Given the description of an element on the screen output the (x, y) to click on. 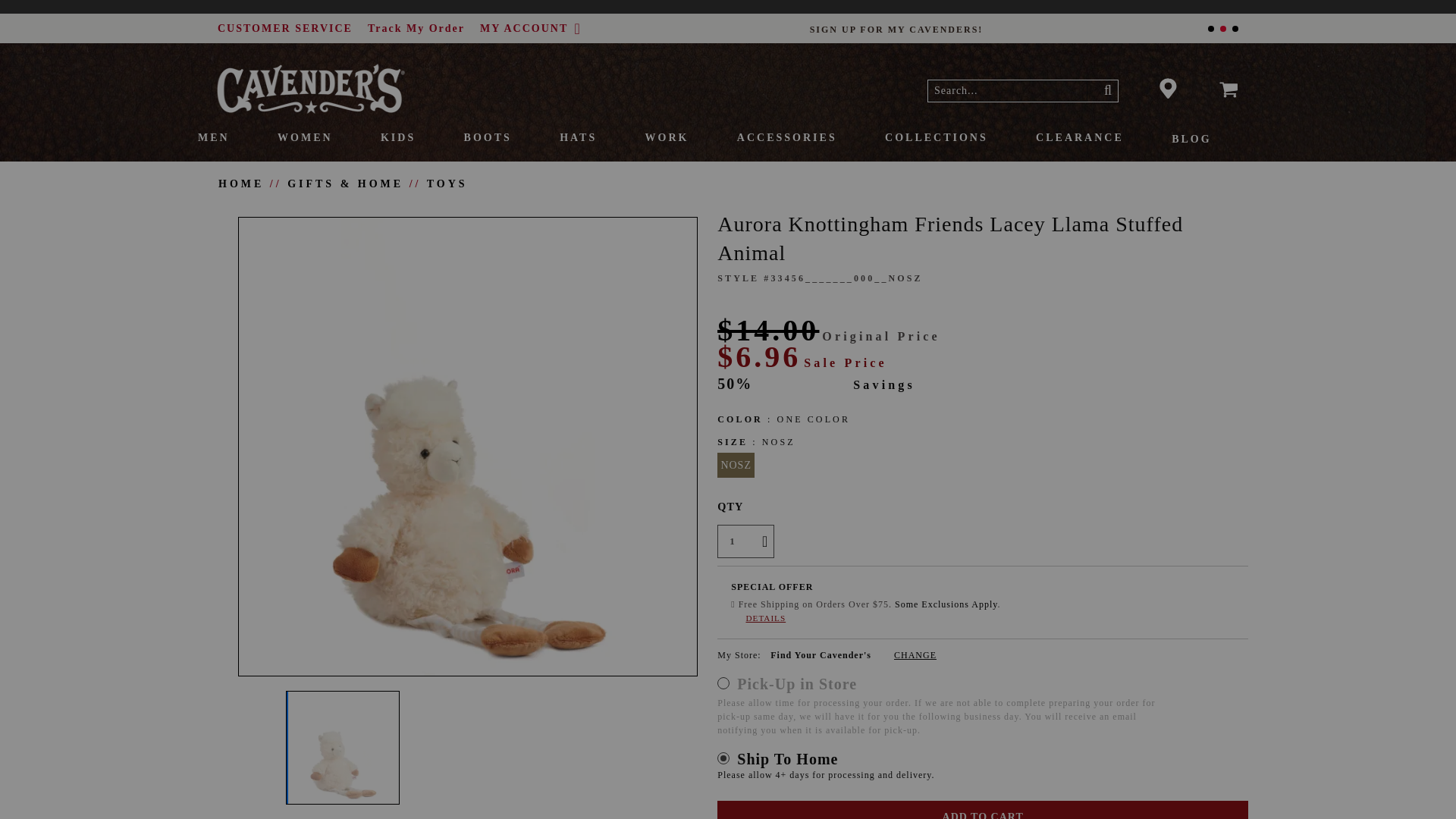
SEARCH CATALOG (1108, 89)
Track Order (416, 27)
SIGN UP FOR MY CAVENDERS! (1222, 28)
Customer Service (284, 27)
CUSTOMER SERVICE (284, 27)
Cavender's Home (310, 110)
shiptohome (723, 758)
MY ACCOUNT (530, 28)
Track My Order (416, 27)
storepickup (723, 683)
MEN (237, 137)
Search... (1007, 90)
